Given the description of an element on the screen output the (x, y) to click on. 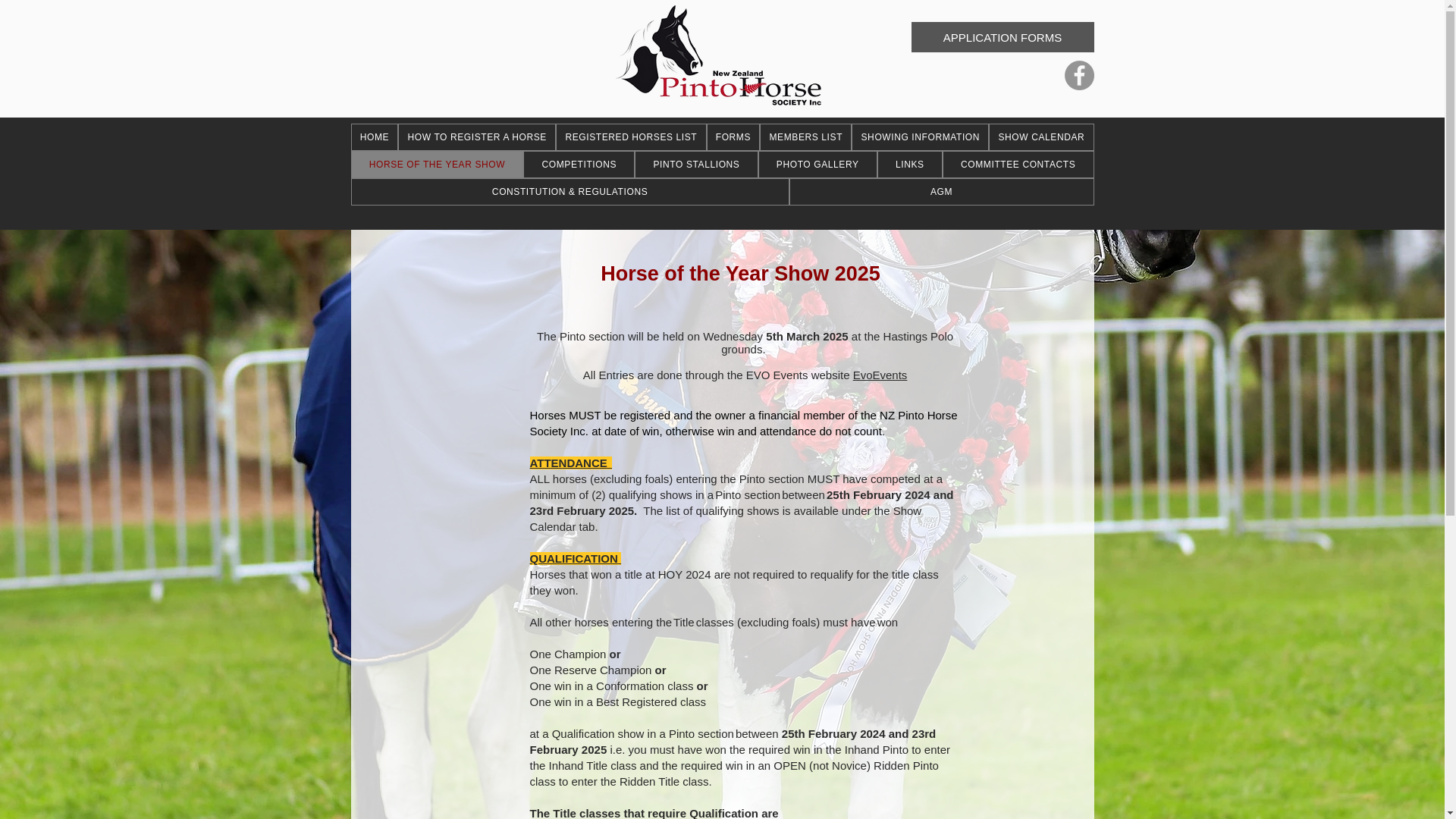
SHOW CALENDAR (1040, 136)
HOW TO REGISTER A HORSE (476, 136)
SHOWING INFORMATION (919, 136)
HORSE OF THE YEAR SHOW (436, 164)
FORMS (733, 136)
COMPETITIONS (578, 164)
PINTO STALLIONS (695, 164)
LINKS (909, 164)
MEMBERS LIST (805, 136)
AGM (941, 191)
PHOTO GALLERY (817, 164)
EvoEvents (880, 374)
APPLICATION FORMS (1002, 37)
COMMITTEE CONTACTS (1018, 164)
HOME (373, 136)
